Given the description of an element on the screen output the (x, y) to click on. 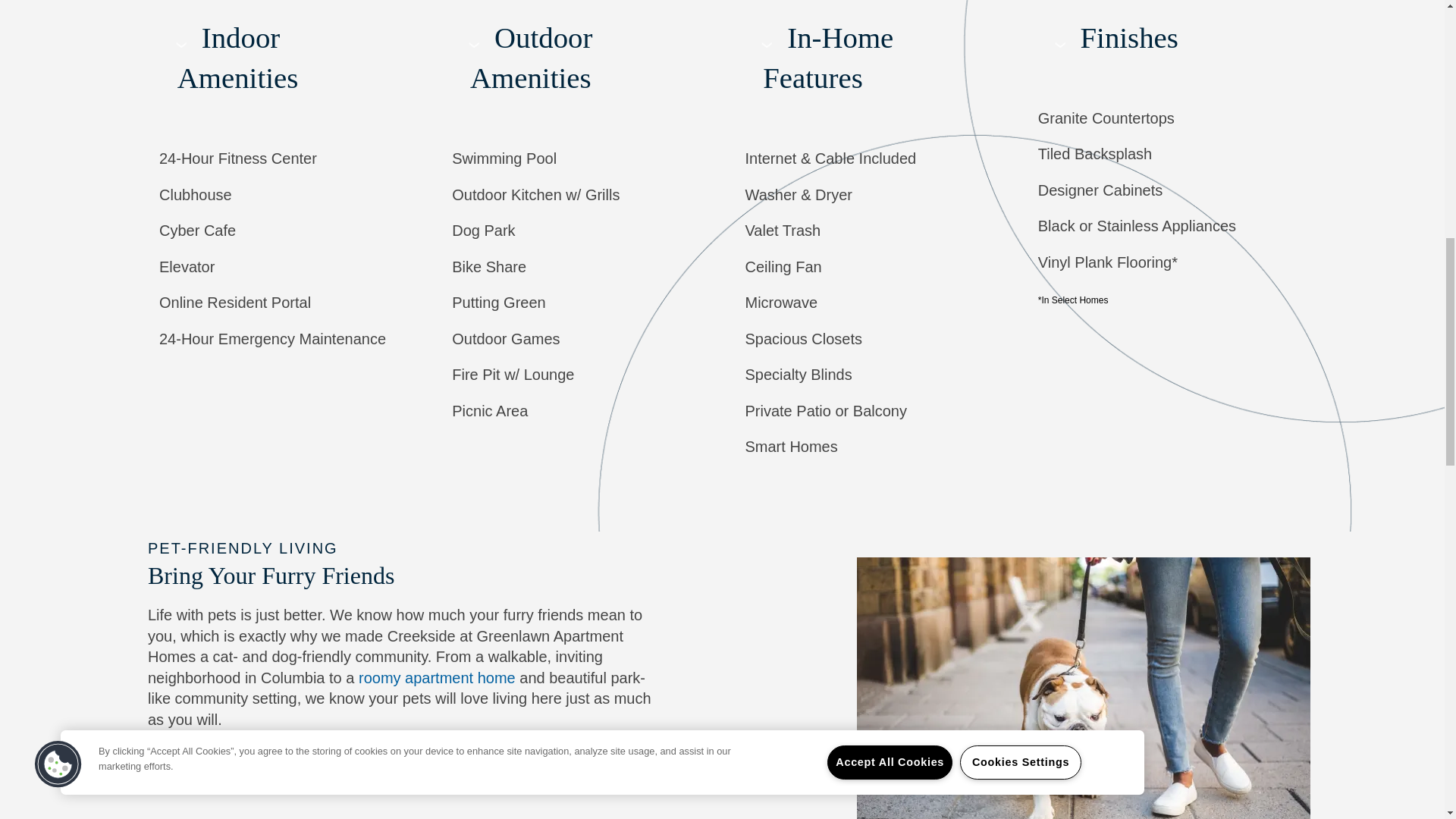
Outdoor Amenities (575, 63)
Finishes (1161, 43)
Indoor Amenities (282, 63)
roomy apartment home (436, 677)
In-Home Features (868, 63)
